Given the description of an element on the screen output the (x, y) to click on. 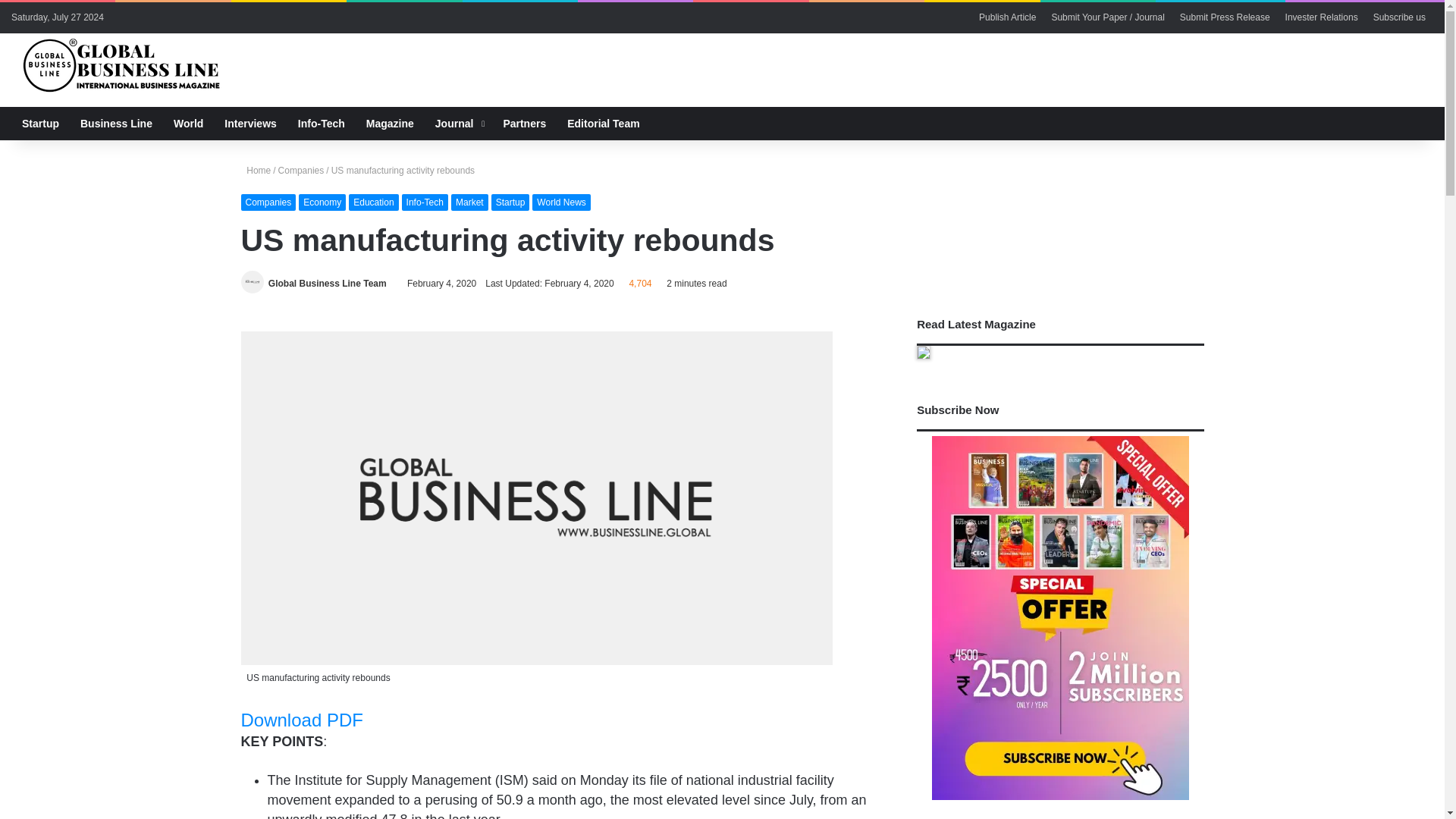
Startup (40, 123)
Partners (524, 123)
World (188, 123)
Magazine (390, 123)
Global Business Line Team (327, 283)
Submit Press Release (1225, 17)
Global Business Line (124, 65)
Publish Article (1007, 17)
Journal (459, 123)
Interviews (250, 123)
Info-Tech (320, 123)
Editorial Team (602, 123)
Business Line (116, 123)
Subscribe us (1398, 17)
Invester Relations (1321, 17)
